Given the description of an element on the screen output the (x, y) to click on. 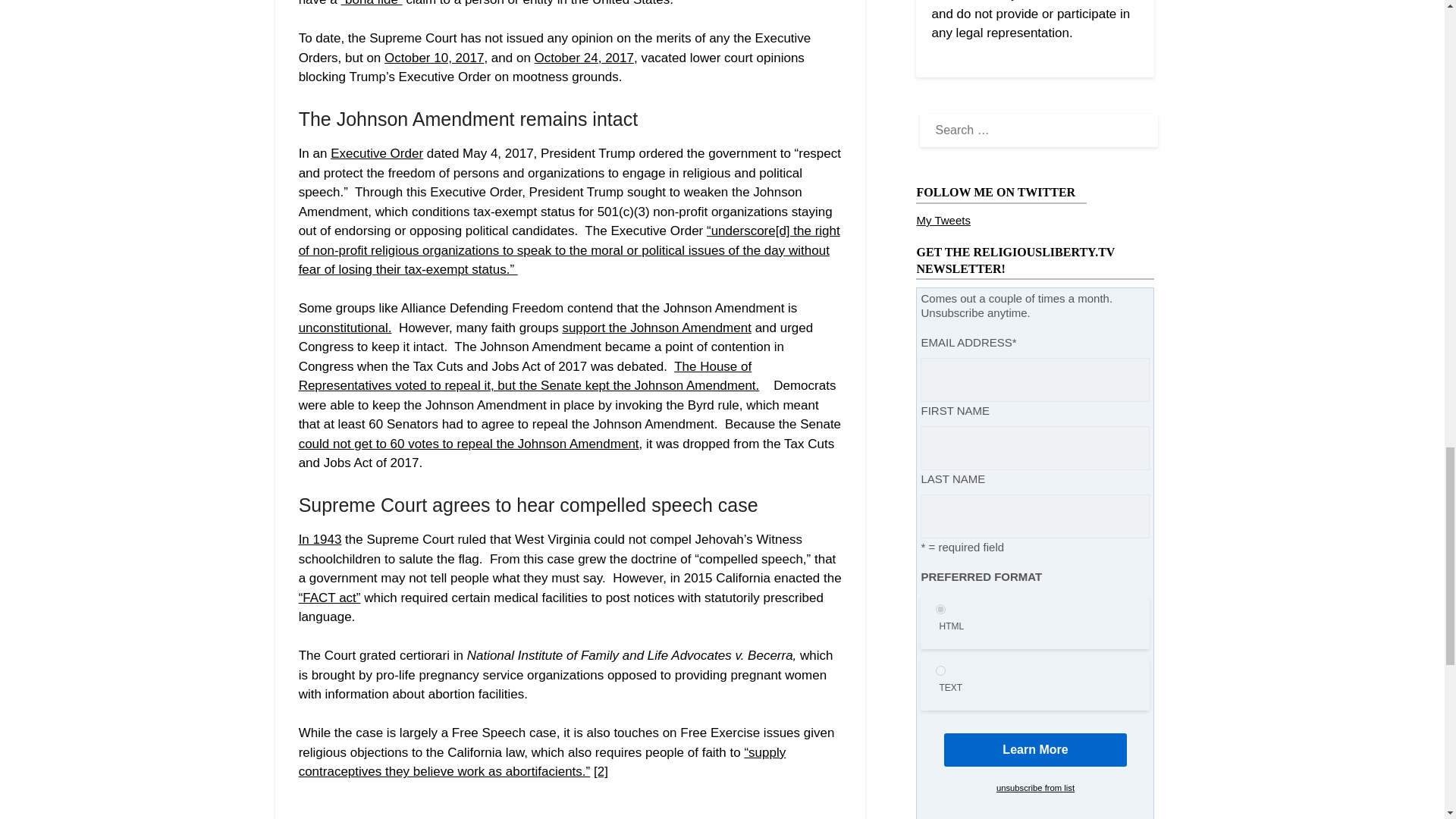
text (940, 670)
support the Johnson Amendment (656, 327)
Learn More (1034, 749)
In 1943 (320, 539)
could not get to 60 votes to repeal the Johnson Amendment (468, 443)
October 24, 2017 (583, 57)
unconstitutional. (344, 327)
html (940, 609)
October 10, 2017 (433, 57)
Executive Order (376, 153)
